Given the description of an element on the screen output the (x, y) to click on. 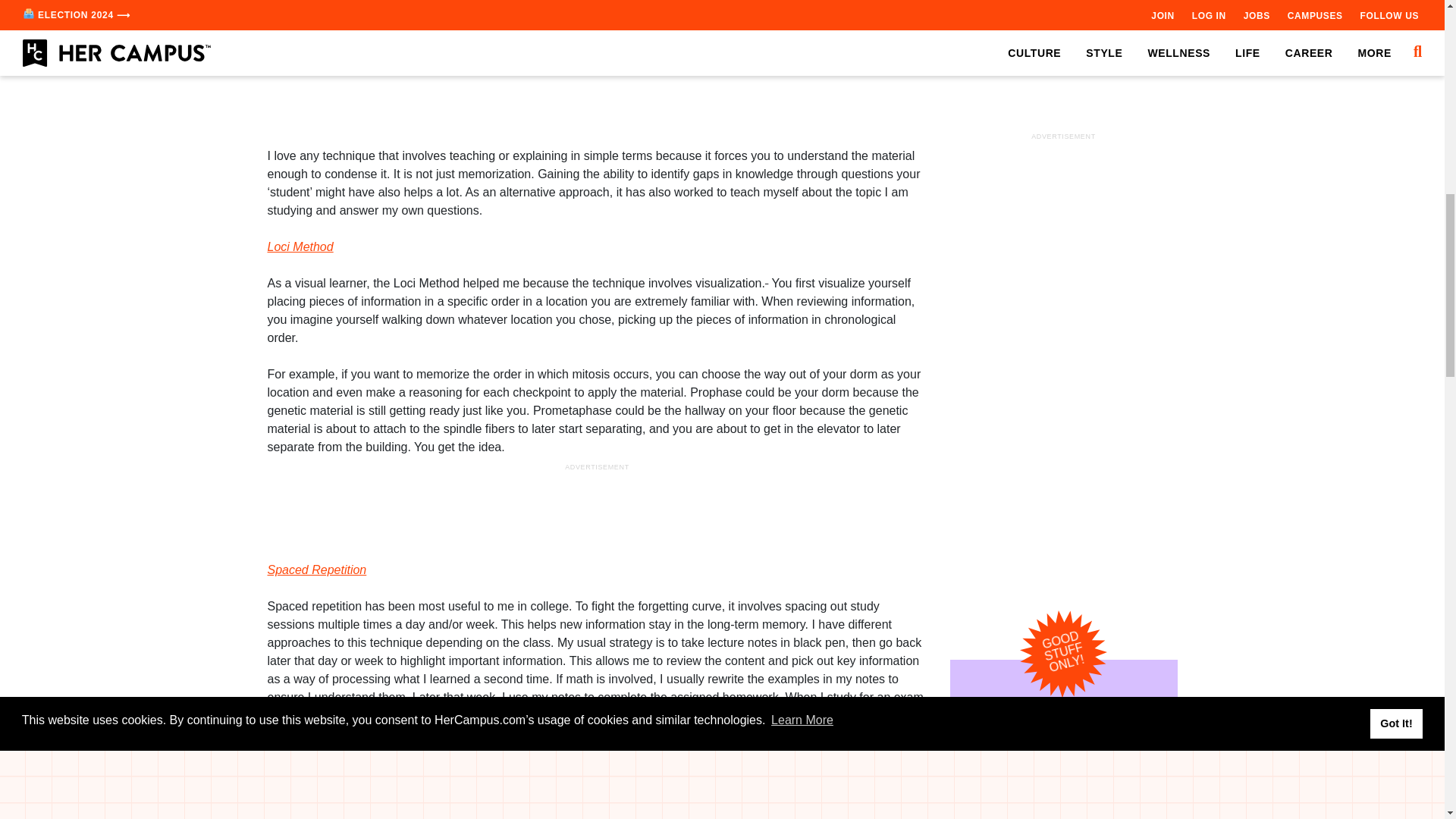
3rd party ad content (597, 94)
3rd party ad content (597, 508)
3rd party ad content (1062, 105)
